Given the description of an element on the screen output the (x, y) to click on. 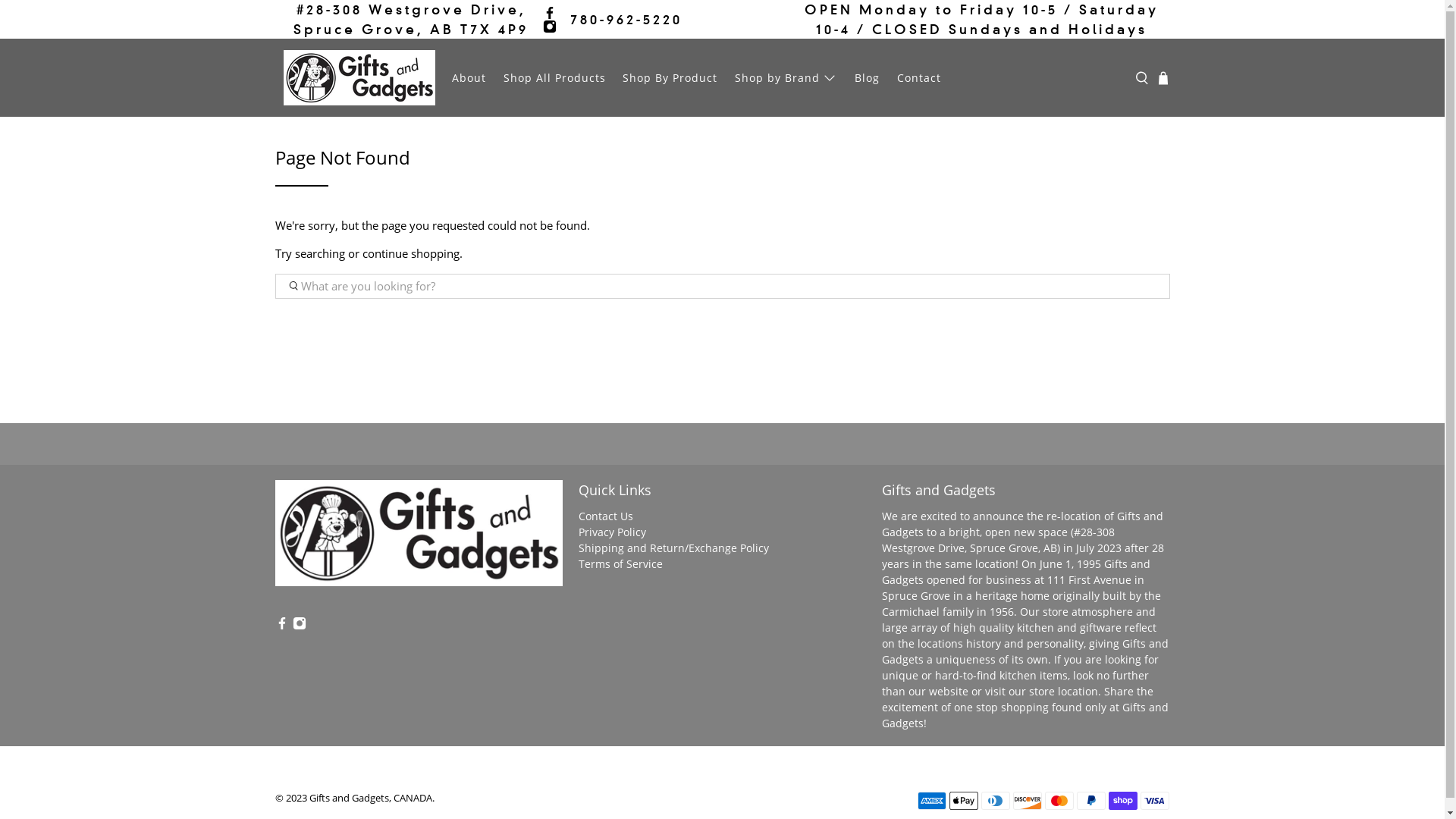
Contact Us Element type: text (604, 515)
Gifts and Gadgets,  CANADA on Instagram Element type: hover (549, 26)
Privacy Policy Element type: text (611, 531)
continue shopping Element type: text (410, 252)
Shipping and Return/Exchange Policy Element type: text (672, 547)
Shop All Products Element type: text (554, 77)
Gifts and Gadgets,  CANADA on Facebook Element type: hover (281, 625)
Gifts and Gadgets,  CANADA Element type: hover (359, 77)
Gifts and Gadgets,  CANADA on Instagram Element type: hover (299, 625)
Gifts and Gadgets,  CANADA on Facebook Element type: hover (549, 12)
Gifts and Gadgets,  CANADA Element type: hover (418, 540)
Shop by Brand Element type: text (786, 77)
About Element type: text (469, 77)
Contact Element type: text (918, 77)
Terms of Service Element type: text (619, 563)
Shop By Product Element type: text (670, 77)
Gifts and Gadgets, CANADA Element type: text (370, 797)
Blog Element type: text (867, 77)
